Given the description of an element on the screen output the (x, y) to click on. 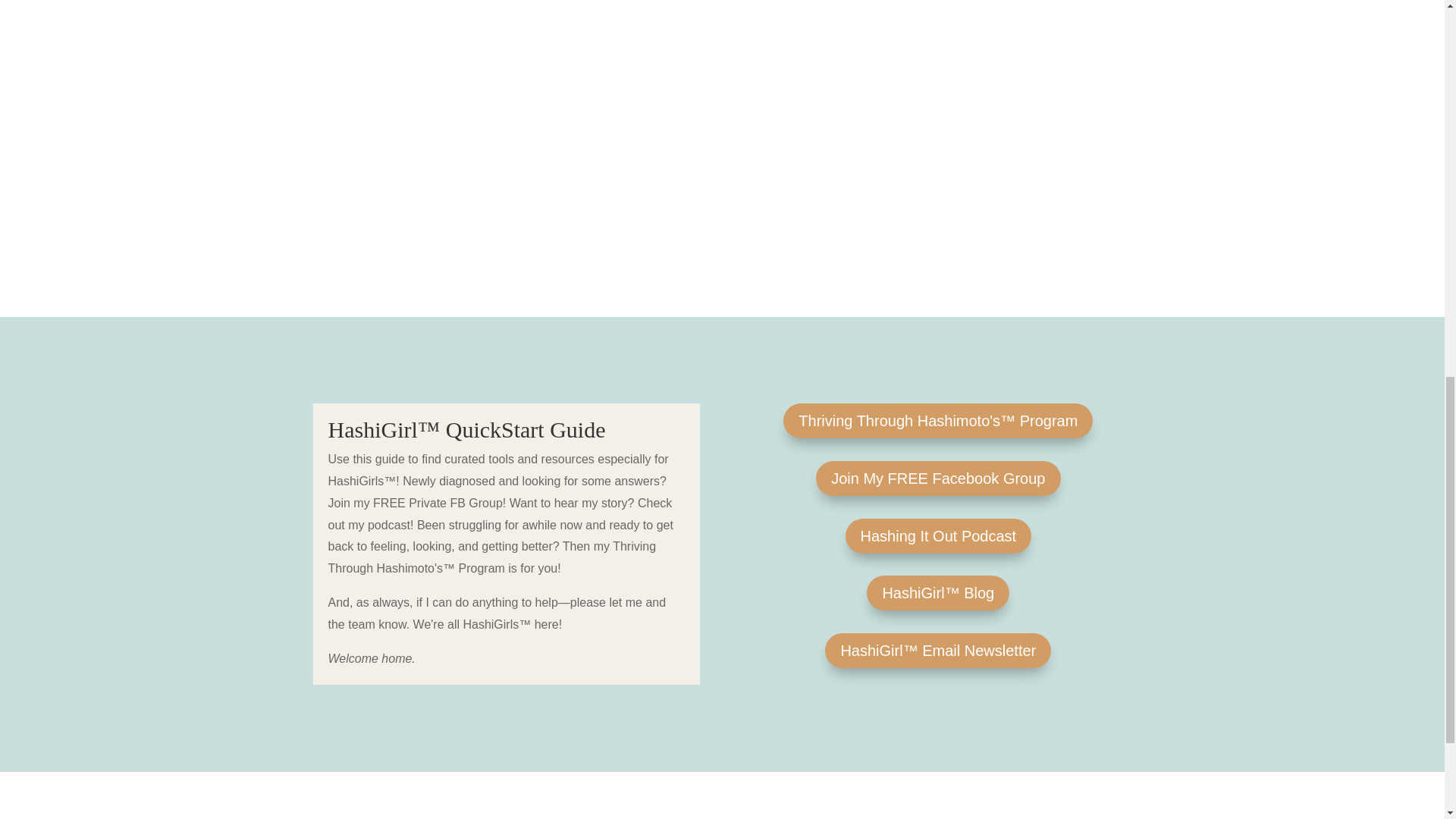
Join My FREE Facebook Group (937, 478)
Hashing It Out Podcast (937, 535)
